Given the description of an element on the screen output the (x, y) to click on. 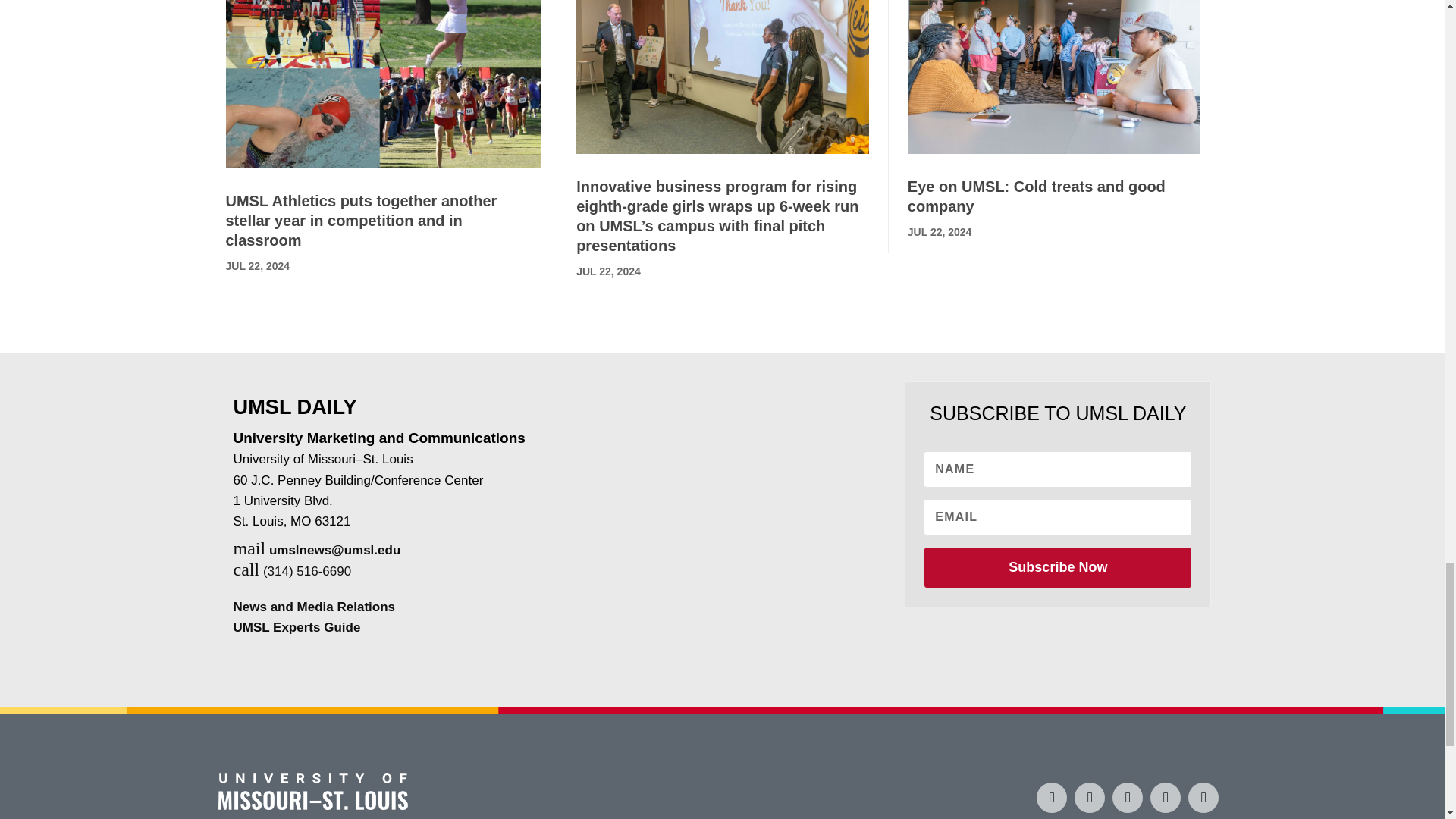
Visit UMSL on TikTok (1127, 797)
UMSL News and Media Relations (314, 606)
Visit UMSL on LinkedIn (1165, 797)
Visit UMSL on Instagram (1089, 797)
UMSL Campus Calendar (1203, 797)
University of Missouri St. Louis (312, 805)
Visit UMSL on Facebook (1051, 797)
UMSL Experts Guide (296, 626)
